Given the description of an element on the screen output the (x, y) to click on. 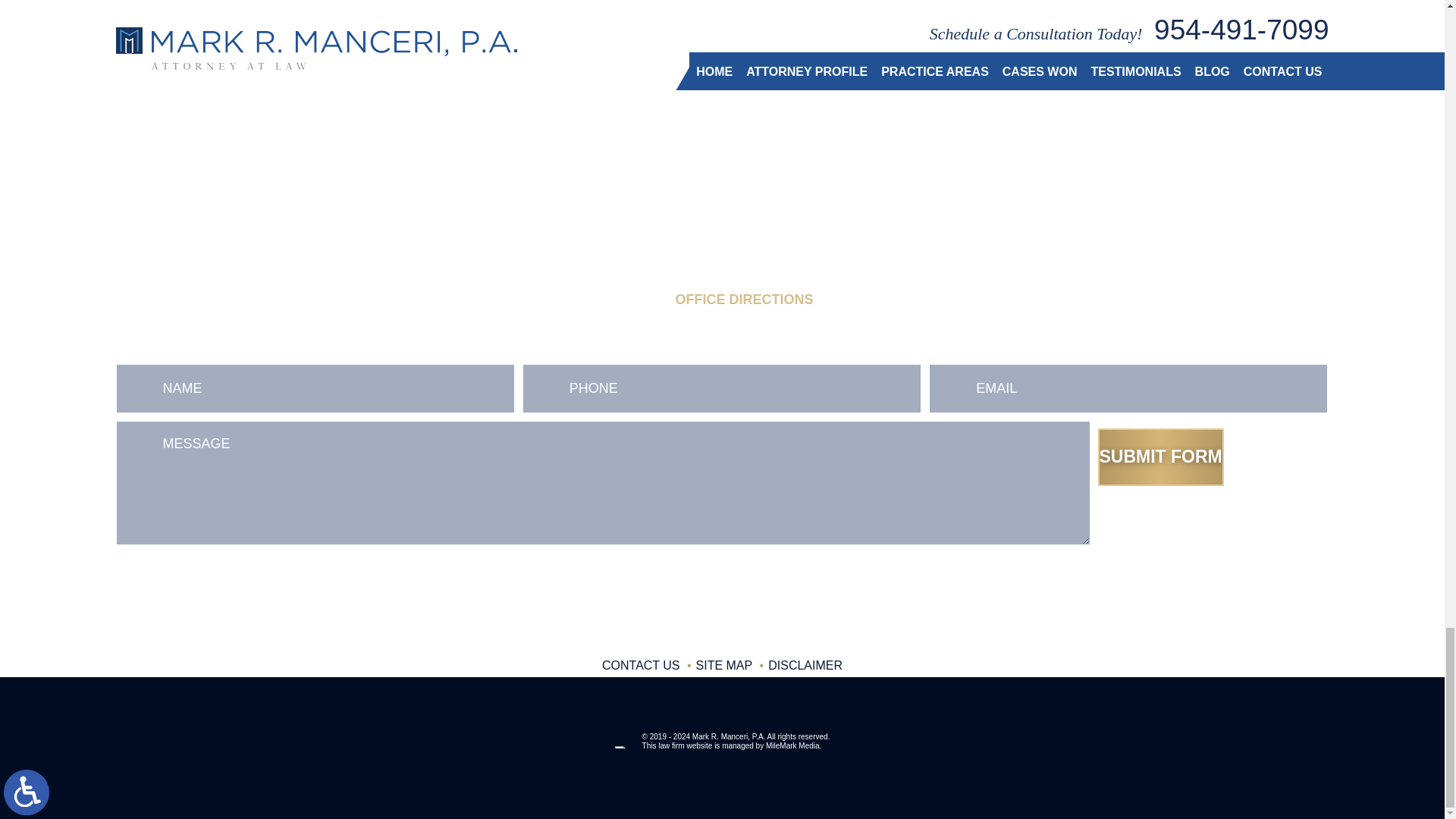
Submit Form (1160, 456)
954-491-7099 (215, 231)
